Given the description of an element on the screen output the (x, y) to click on. 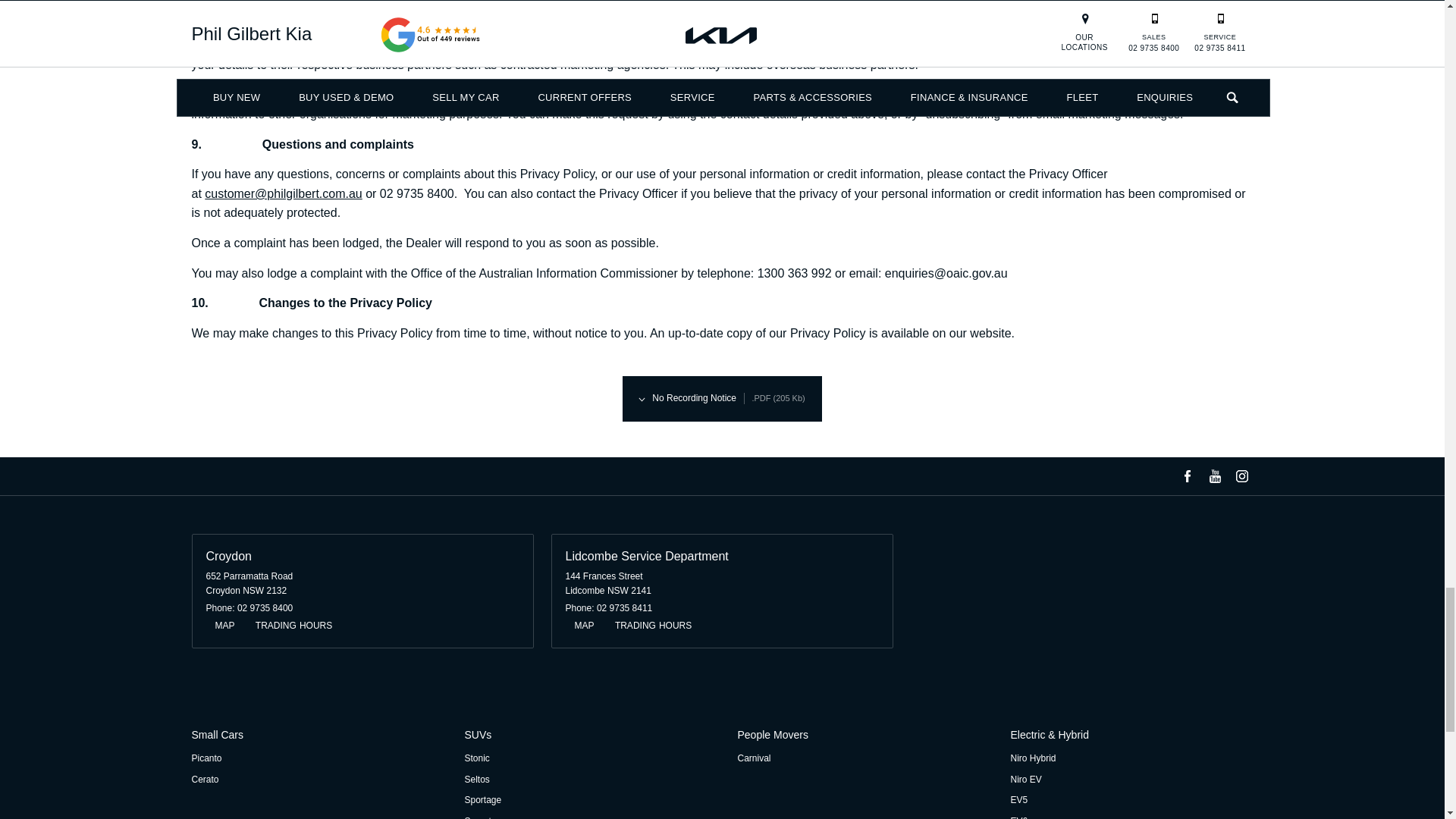
Visit our YouTube Channel (1213, 476)
Become a Friend on Facebook (1186, 476)
Follow Us on Instagram (1241, 476)
